Given the description of an element on the screen output the (x, y) to click on. 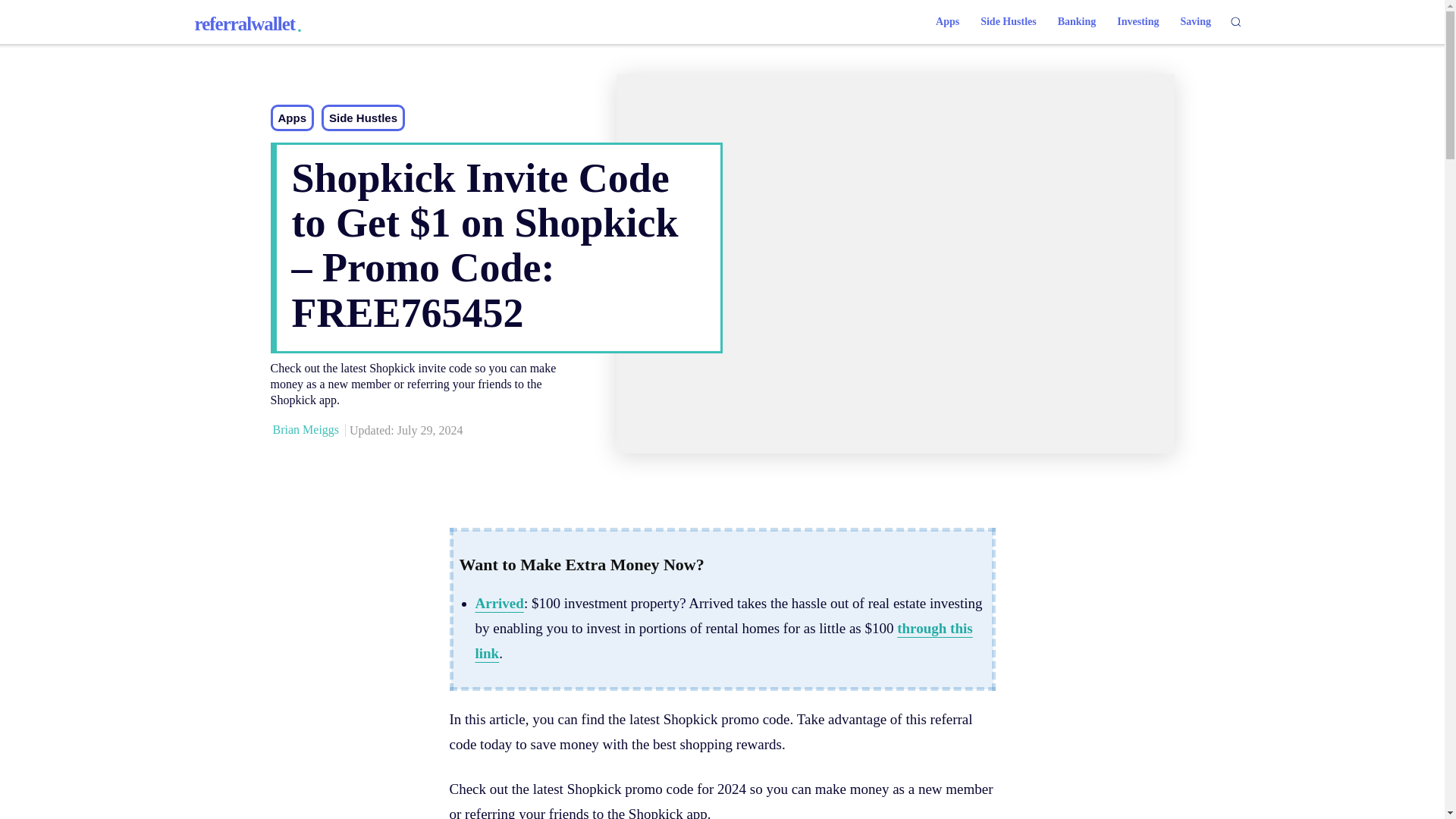
Apps (291, 117)
Apps (946, 22)
Arrived (498, 602)
Brian Meiggs (306, 429)
through this link (247, 24)
Saving (723, 639)
Side Hustles (1195, 22)
Investing (362, 117)
Banking (1137, 22)
